Given the description of an element on the screen output the (x, y) to click on. 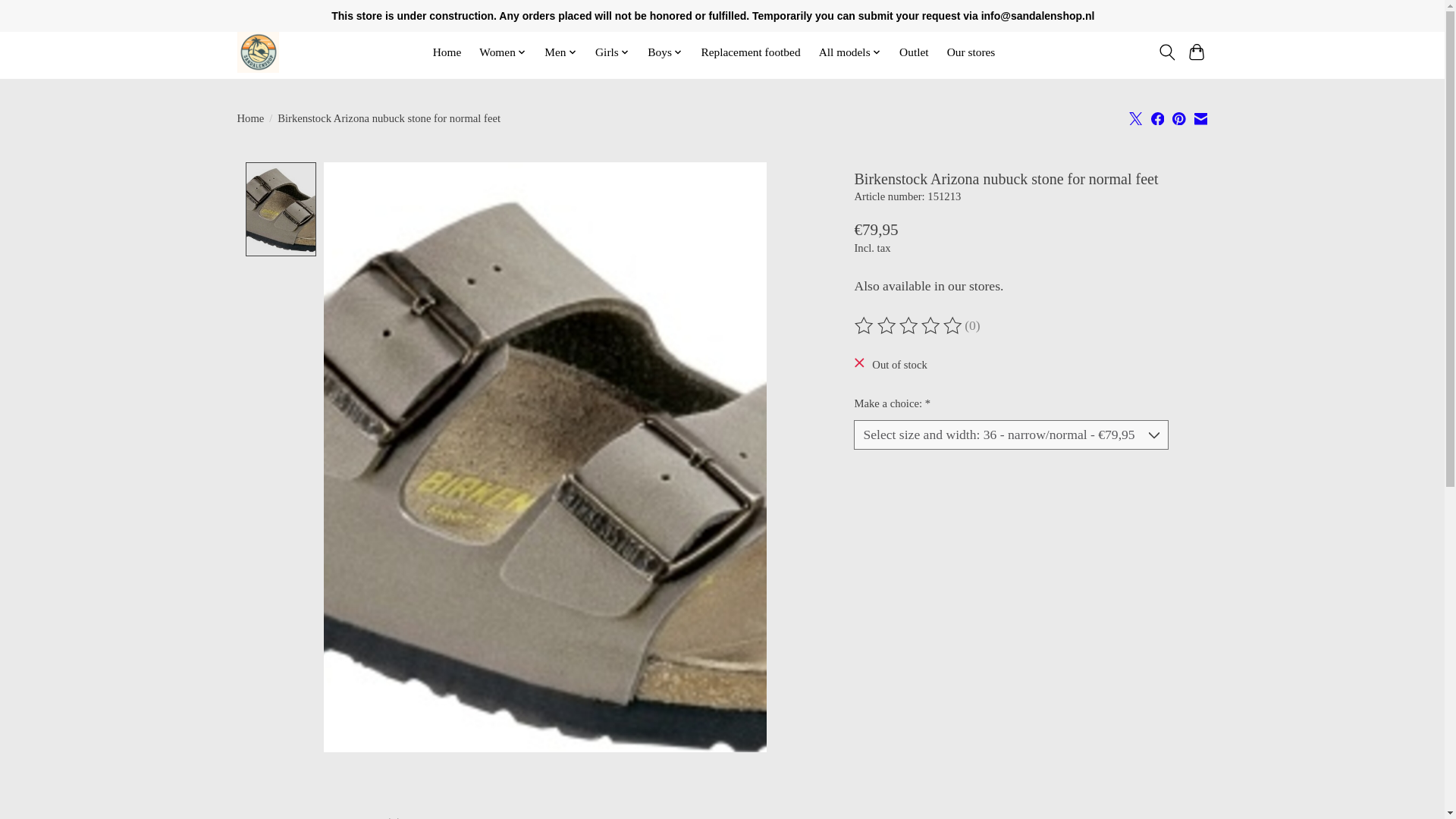
My account (1173, 13)
The online shop of the Birkenstock stores (256, 51)
Share on Pinterest (1178, 118)
Share on Facebook (1157, 118)
Share by Email (1200, 118)
Home (445, 52)
Women (502, 52)
Share on X (1135, 118)
Men (560, 52)
EN (1110, 13)
